Given the description of an element on the screen output the (x, y) to click on. 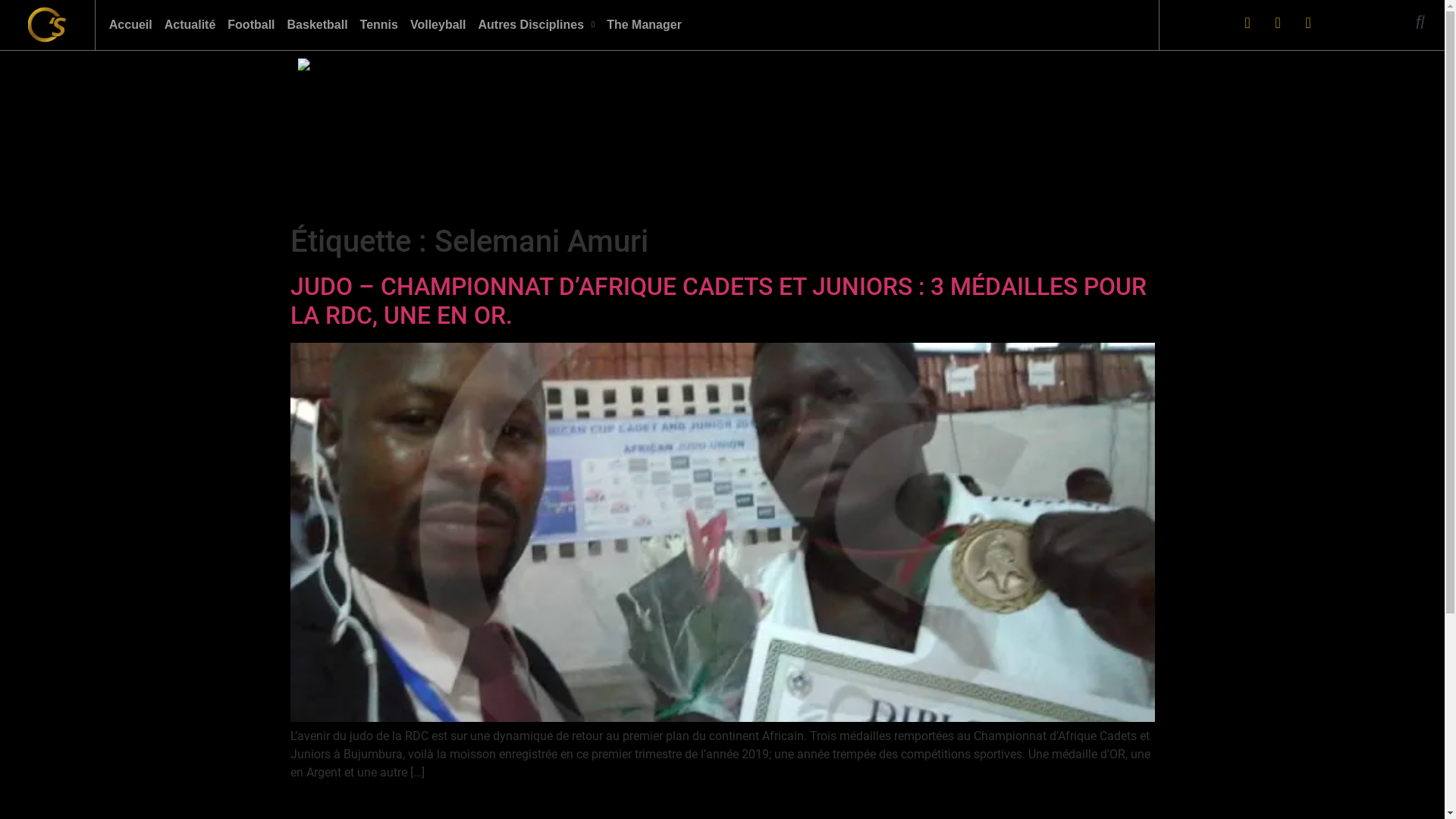
Volleyball Element type: text (438, 24)
Tennis Element type: text (379, 24)
Accueil Element type: text (130, 24)
Basketball Element type: text (317, 24)
cropped-hs-small.png Element type: hover (46, 24)
Autres Disciplines Element type: text (535, 24)
The Manager Element type: text (643, 24)
Football Element type: text (250, 24)
